Given the description of an element on the screen output the (x, y) to click on. 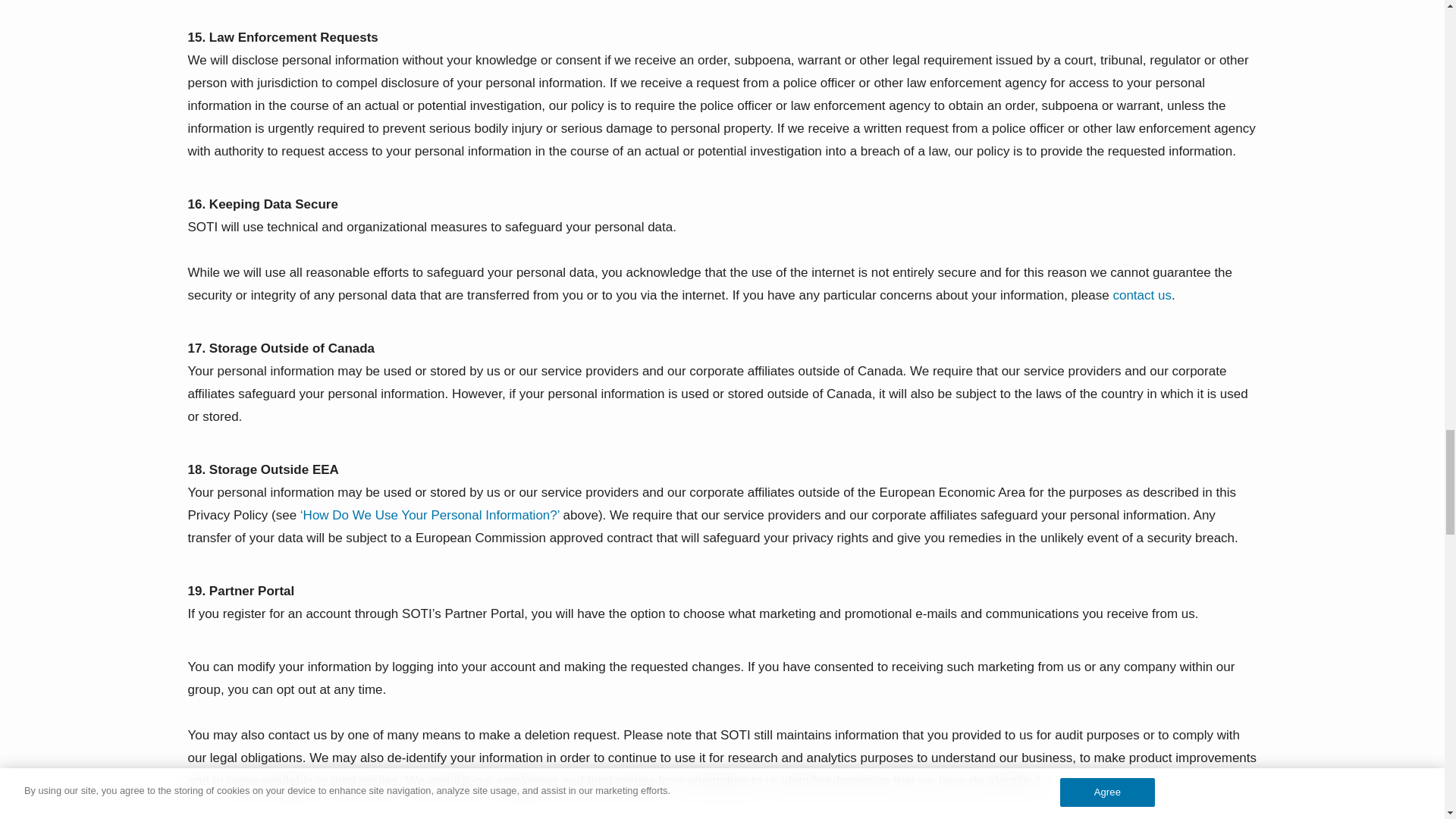
Privacy Request (1142, 295)
